Given the description of an element on the screen output the (x, y) to click on. 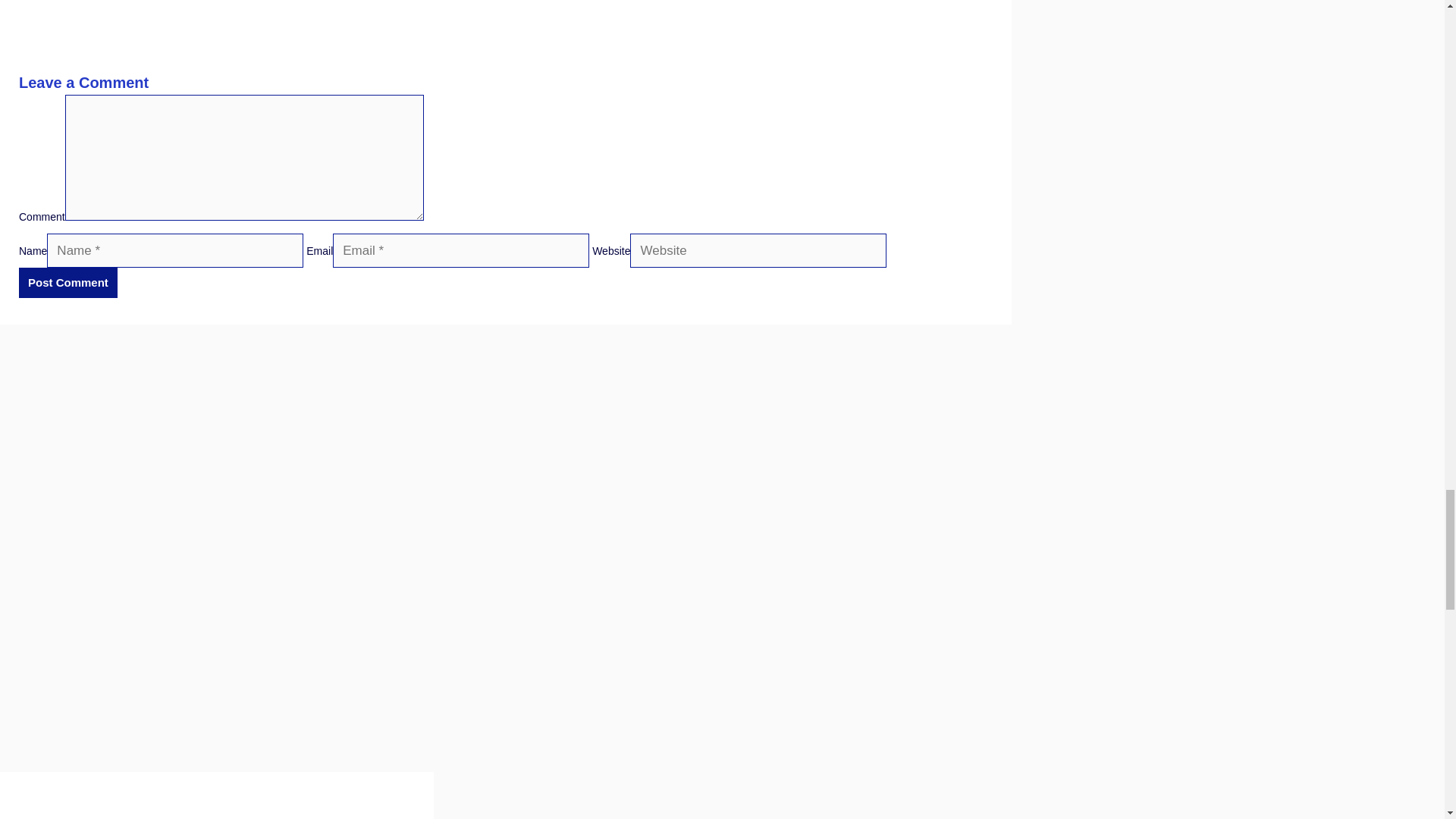
Post Comment (67, 282)
Advertisement (505, 31)
Post Comment (67, 282)
